Given the description of an element on the screen output the (x, y) to click on. 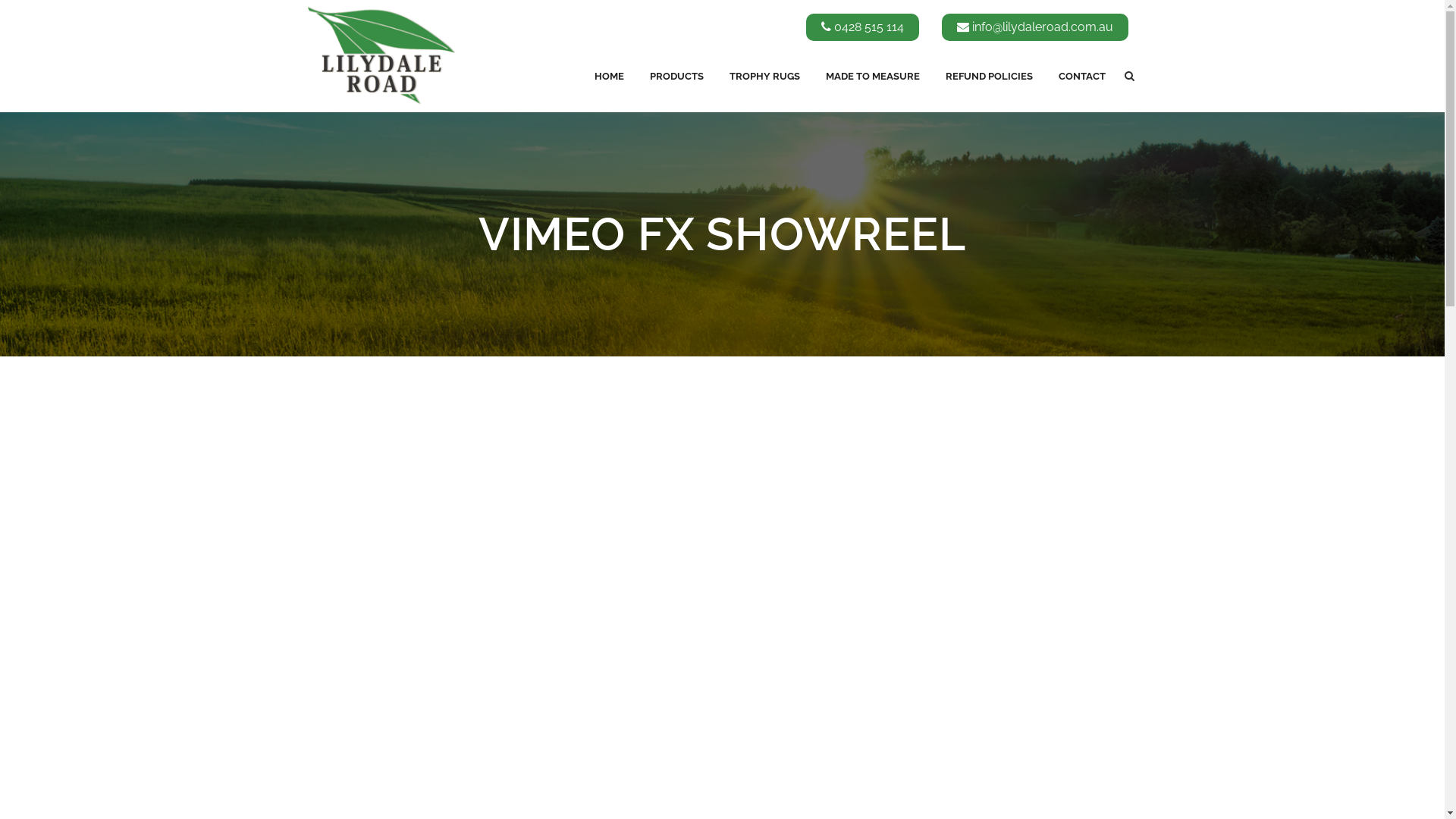
CONTACT Element type: text (1080, 76)
HOME Element type: text (608, 76)
MADE TO MEASURE Element type: text (872, 76)
TROPHY RUGS Element type: text (763, 76)
REFUND POLICIES Element type: text (988, 76)
info@lilydaleroad.com.au Element type: text (1034, 26)
PRODUCTS Element type: text (676, 76)
0428 515 114 Element type: text (861, 26)
